Given the description of an element on the screen output the (x, y) to click on. 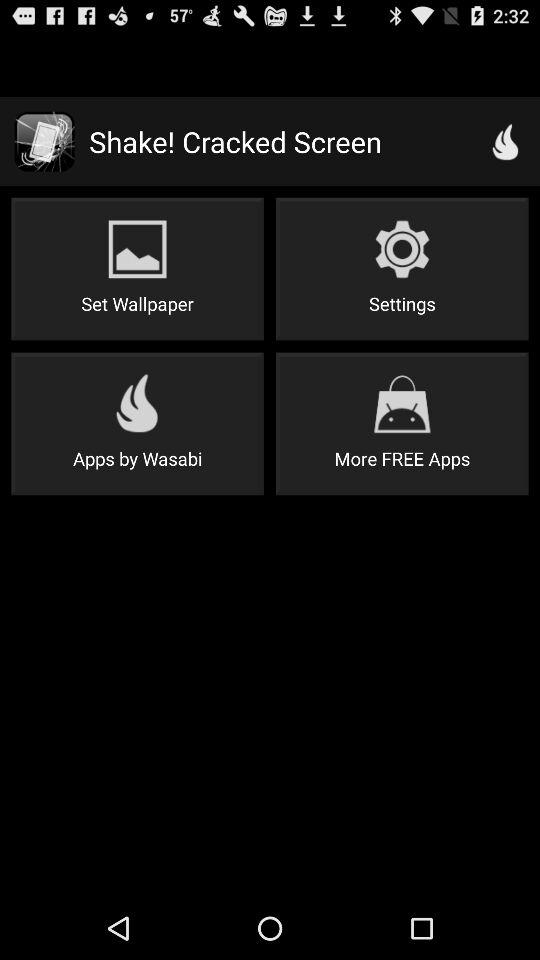
swipe until the more free apps icon (402, 423)
